Given the description of an element on the screen output the (x, y) to click on. 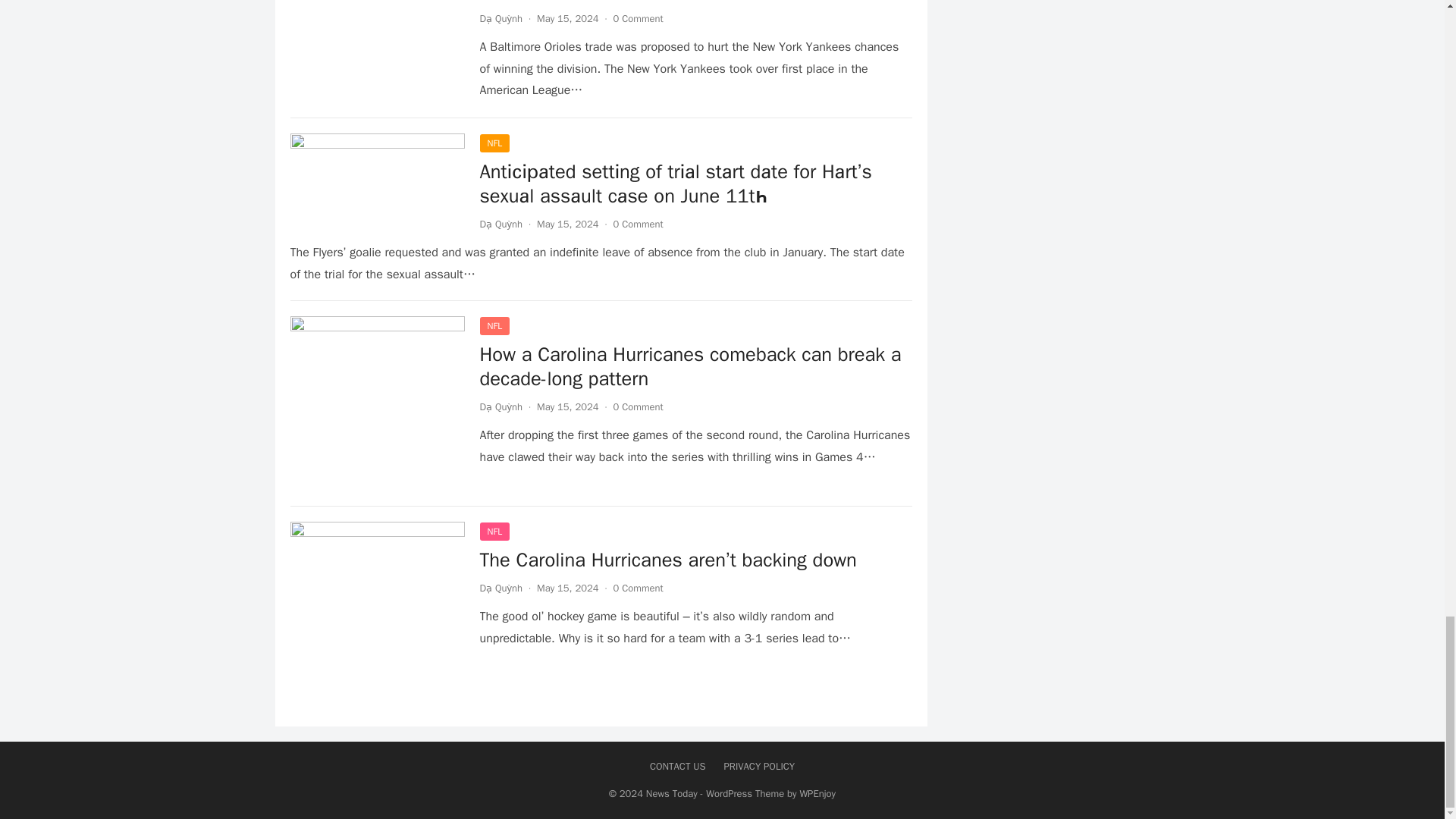
0 Comment (637, 18)
NFL (494, 143)
0 Comment (637, 223)
